Given the description of an element on the screen output the (x, y) to click on. 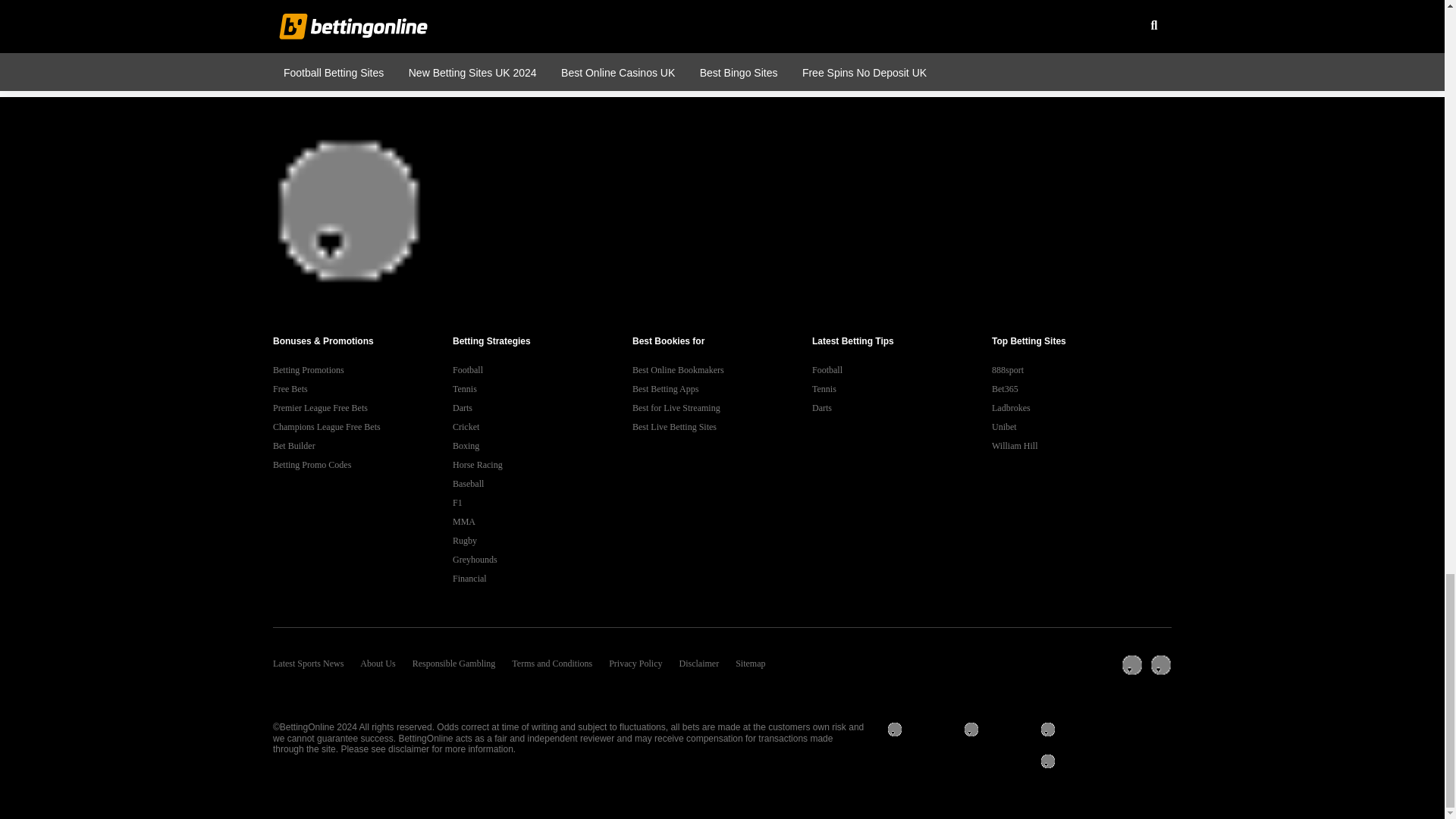
Financial (541, 578)
Best Betting Apps (721, 389)
Premier League Free Bets (362, 407)
Football (541, 370)
Betting Promotions (362, 370)
MMA (541, 521)
Boxing (541, 445)
Horse Racing (541, 465)
Rugby (541, 540)
F1 (541, 502)
Cricket (541, 426)
Champions League Free Bets (362, 426)
Betting Promo Codes (362, 465)
Greyhounds (541, 559)
Baseball (541, 484)
